Given the description of an element on the screen output the (x, y) to click on. 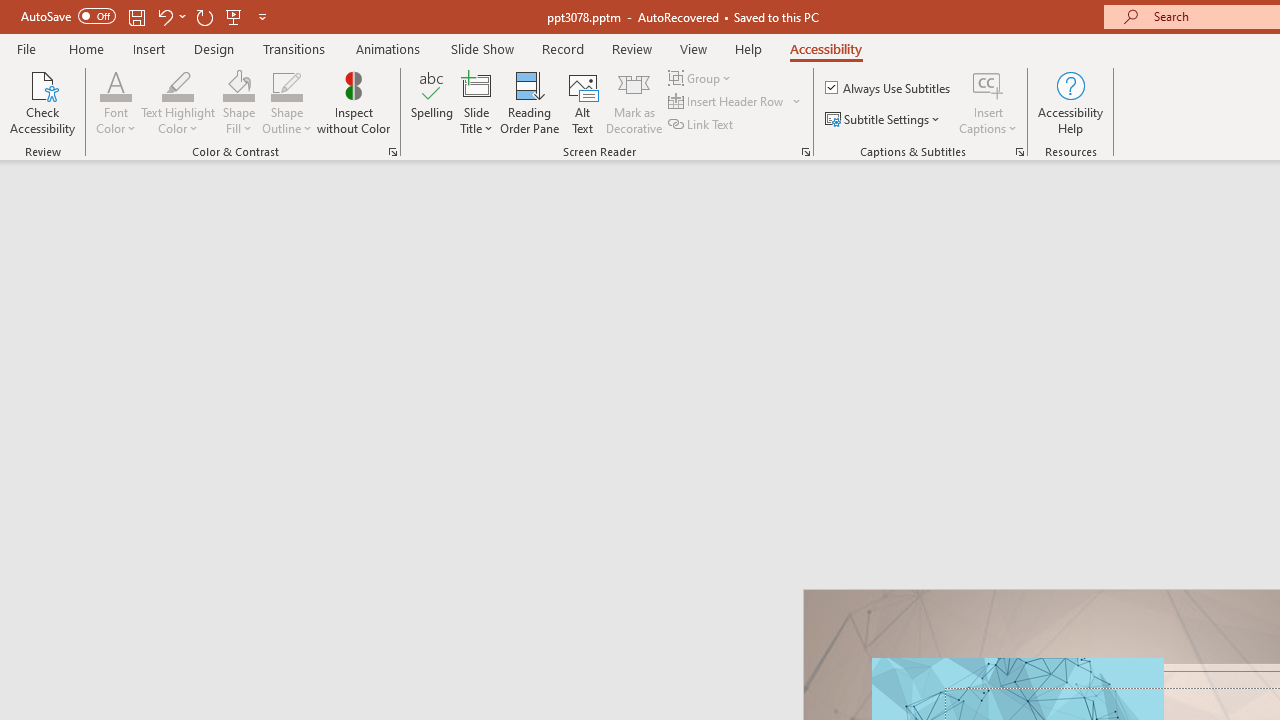
Color & Contrast (392, 151)
Group (701, 78)
Accessibility Help (1070, 102)
Screen Reader (805, 151)
Reading Order Pane (529, 102)
Captions & Subtitles (1019, 151)
Subtitle Settings (884, 119)
